Given the description of an element on the screen output the (x, y) to click on. 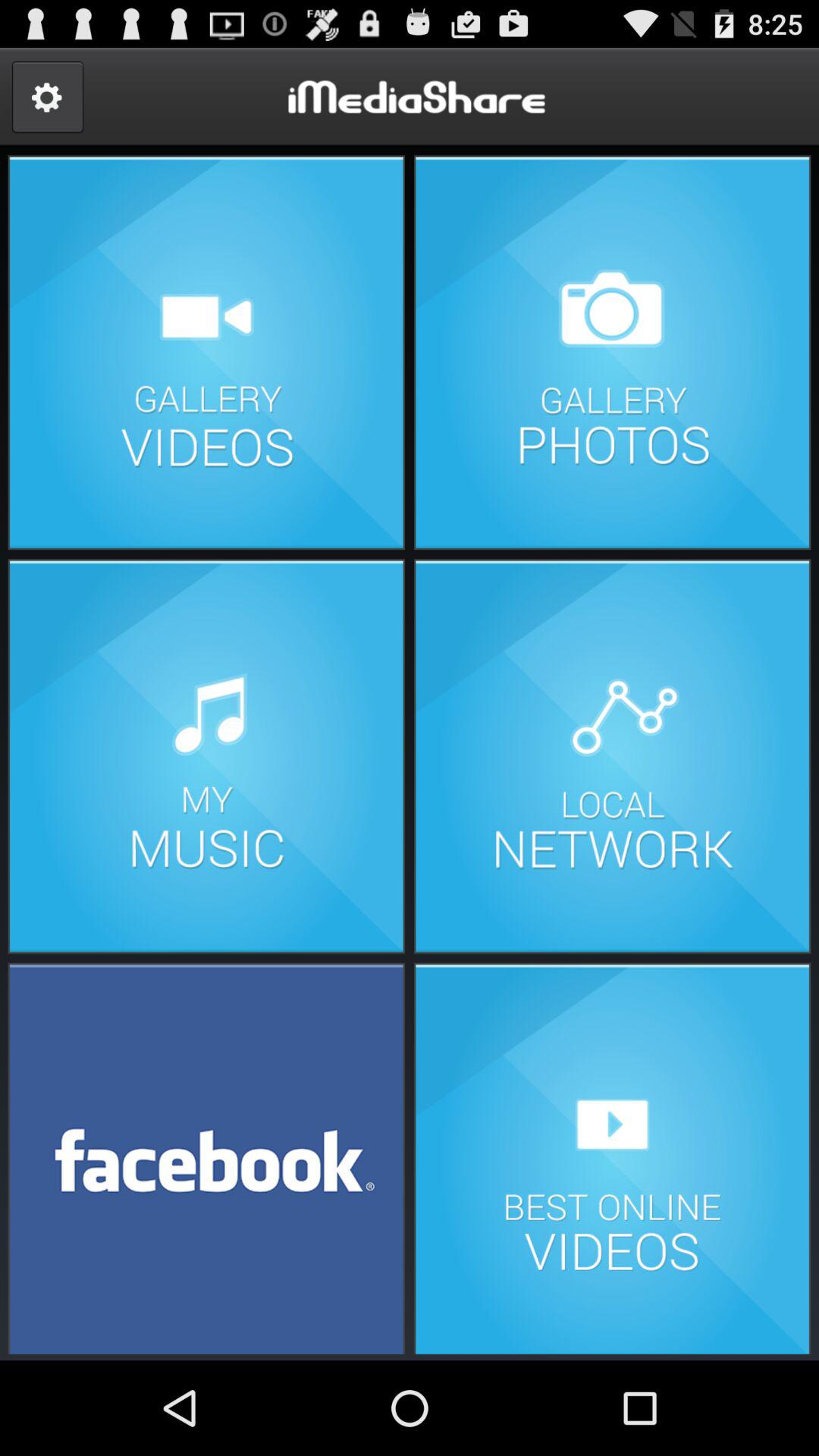
enter photo gallery (612, 352)
